Given the description of an element on the screen output the (x, y) to click on. 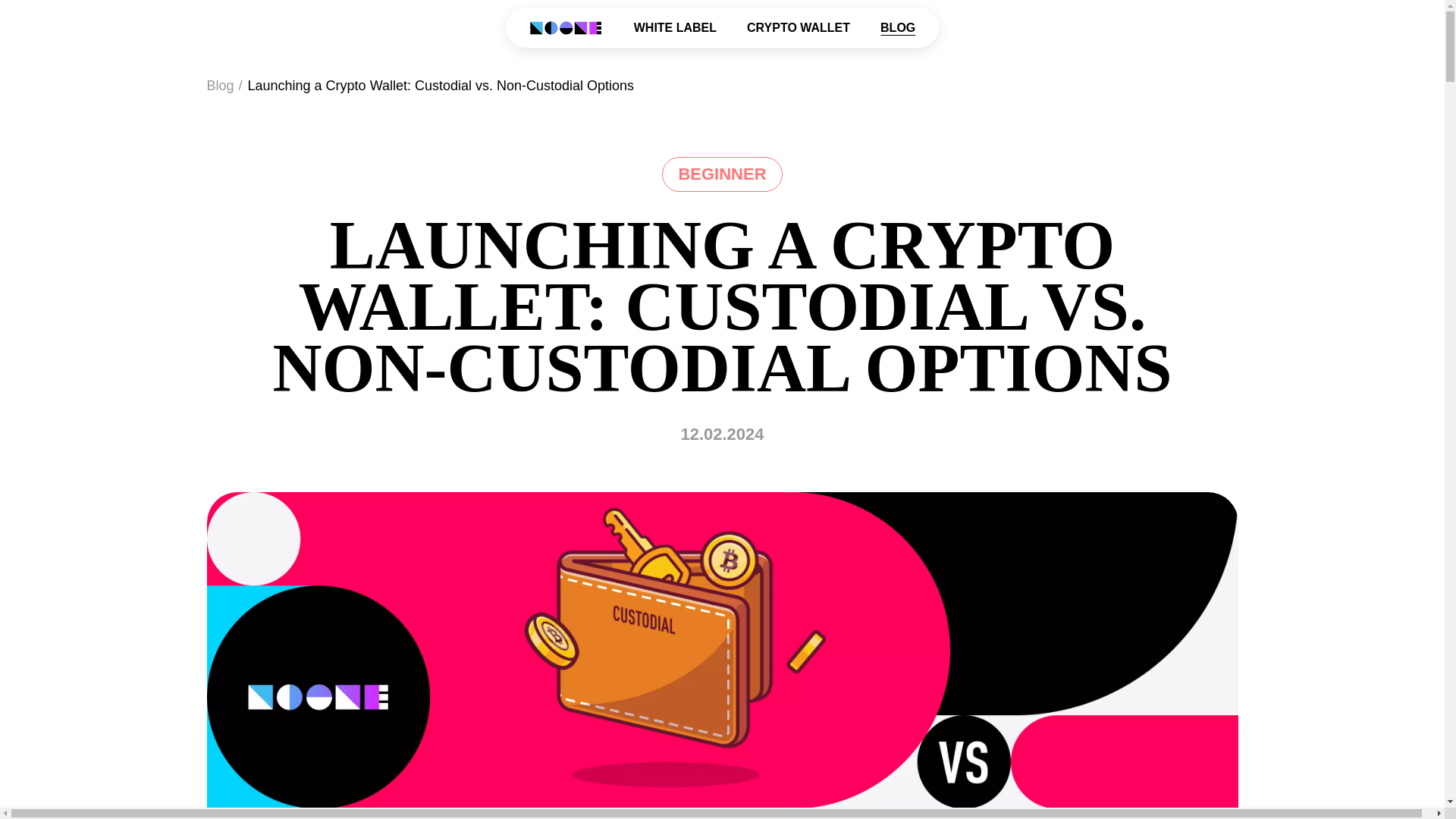
WHITE LABEL (674, 27)
Non-custodial wallet development (566, 27)
Blog (219, 85)
CRYPTO WALLET (798, 27)
BLOG (897, 27)
BEGINNER (721, 174)
